Given the description of an element on the screen output the (x, y) to click on. 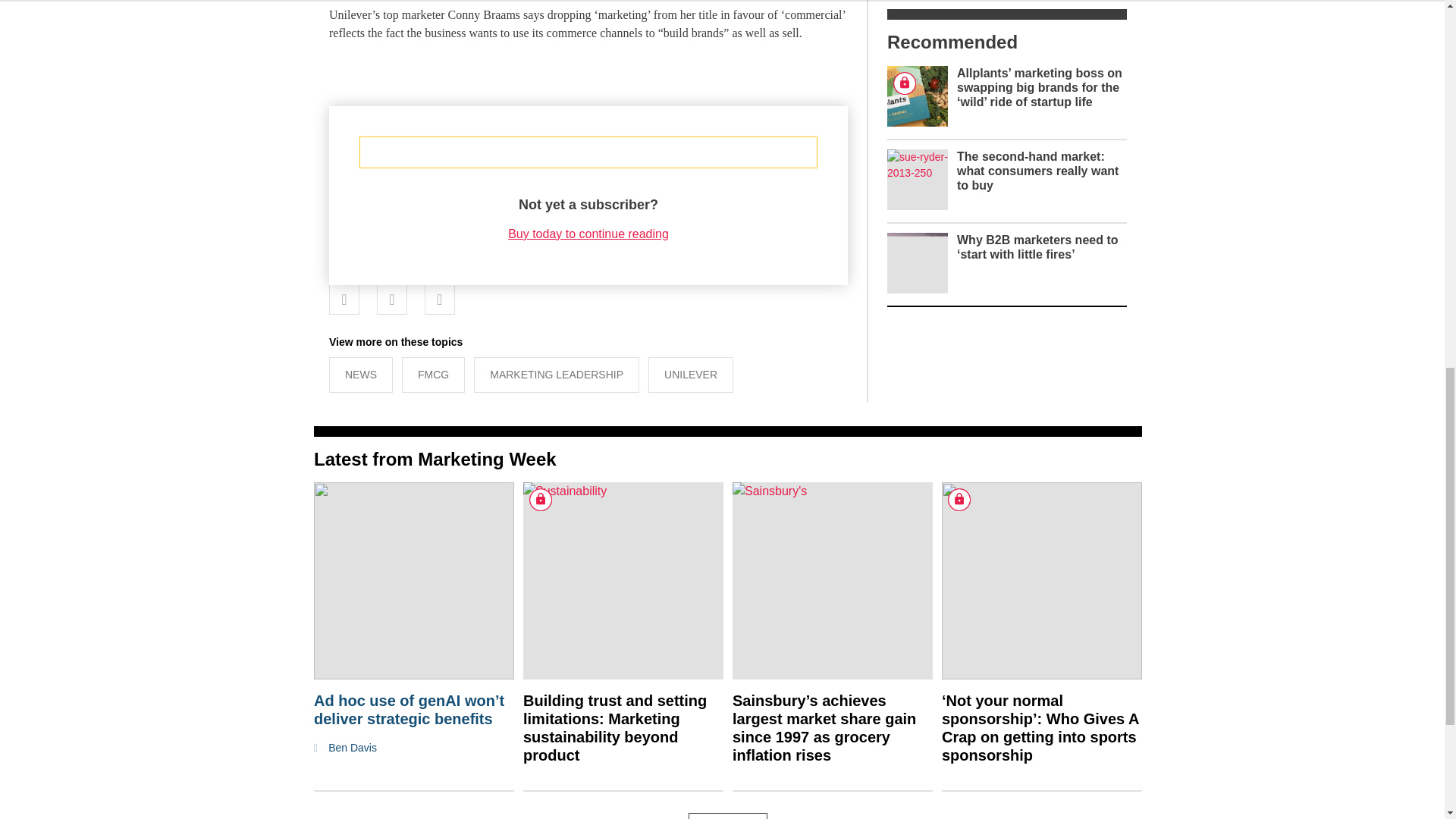
NEWS (361, 375)
UNILEVER (690, 375)
MARKETING LEADERSHIP (556, 375)
Buy today to continue reading (588, 233)
FMCG (432, 375)
